Given the description of an element on the screen output the (x, y) to click on. 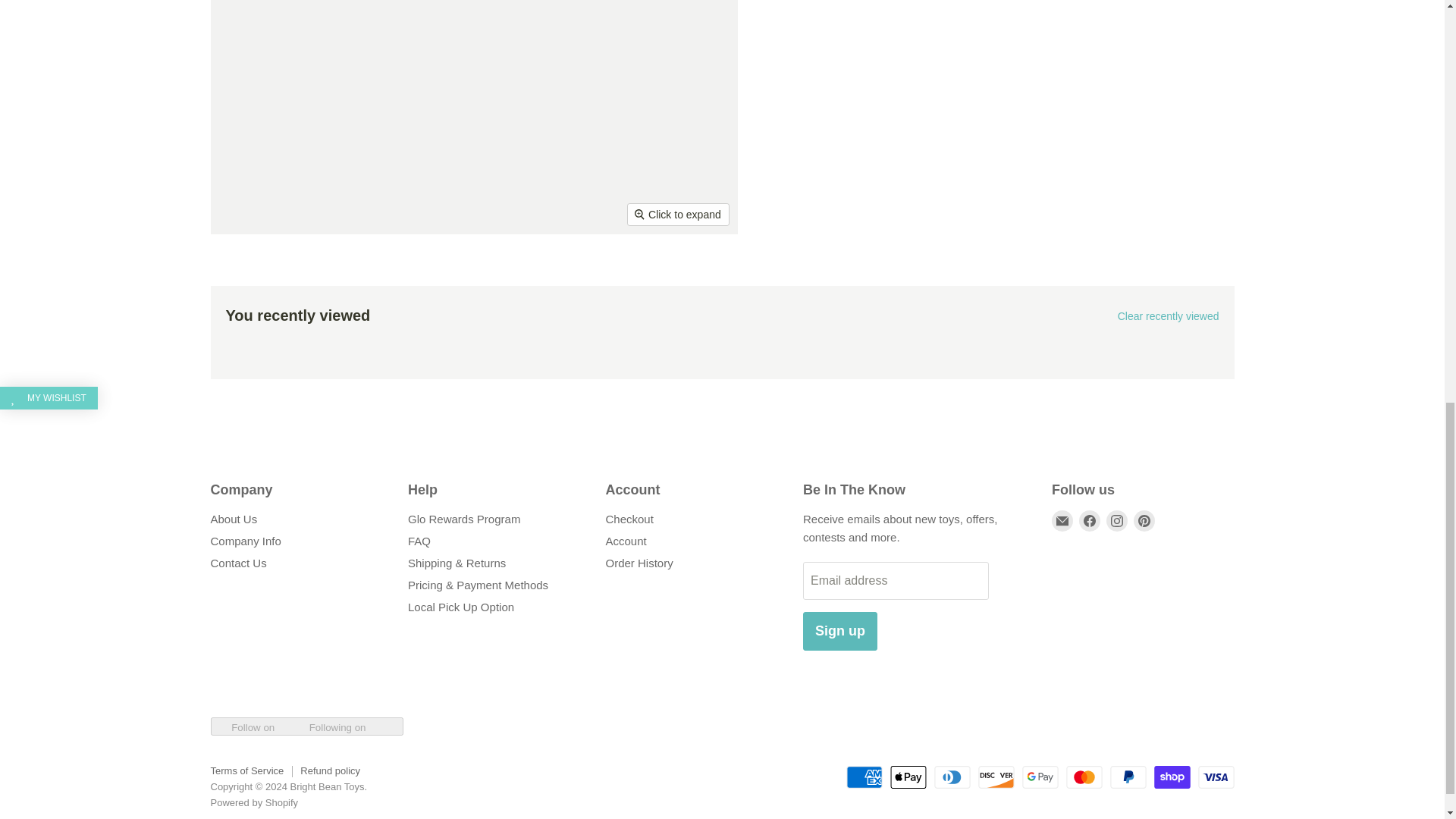
Pinterest (1144, 520)
Instagram (1116, 520)
Facebook (1089, 520)
Email (1062, 520)
